Given the description of an element on the screen output the (x, y) to click on. 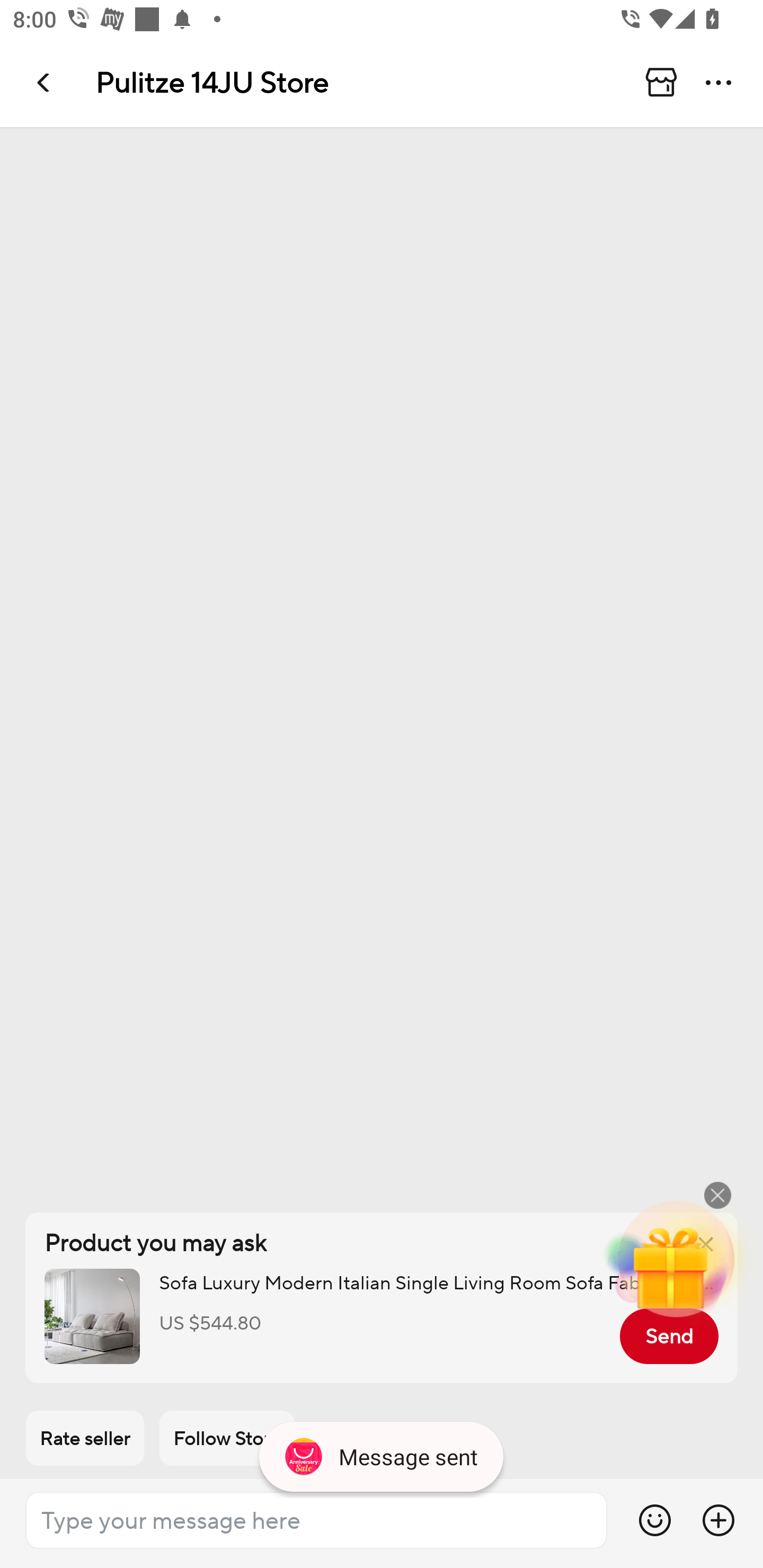
Navigate up (44, 82)
Send (668, 1335)
Rate seller (84, 1437)
Follow Store (226, 1437)
Type your message here (316, 1520)
